Given the description of an element on the screen output the (x, y) to click on. 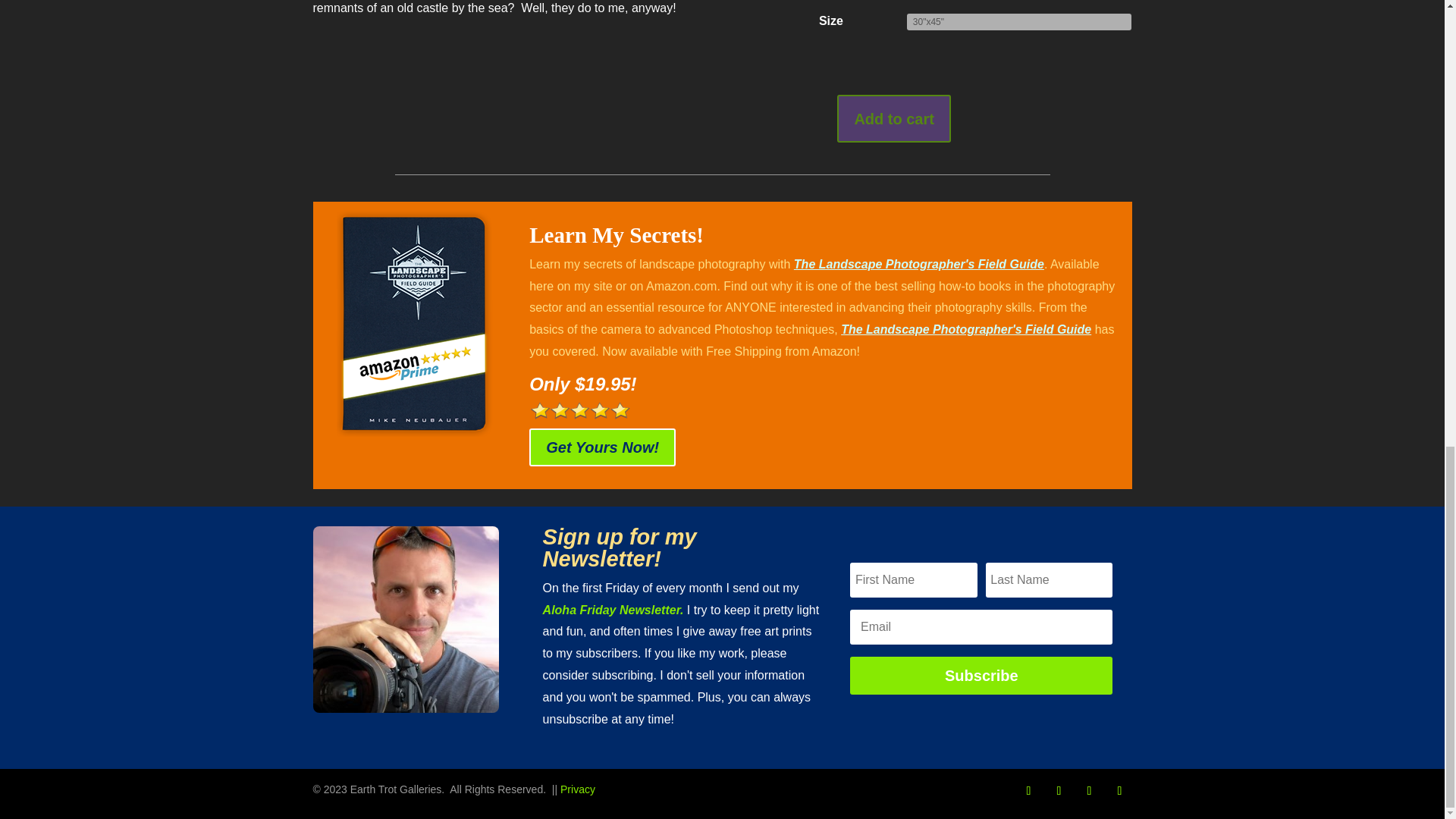
Follow on Instagram (1058, 790)
Get Yours Now! (602, 447)
The Landscape Photographer's Field Guide (918, 264)
Mike Neubauer (406, 619)
Privacy (577, 788)
Follow on Facebook (1028, 790)
The Landscape Photographer's Field Guide (965, 328)
Follow on Youtube (1118, 790)
Add to cart (893, 118)
Subscribe (981, 675)
